Given the description of an element on the screen output the (x, y) to click on. 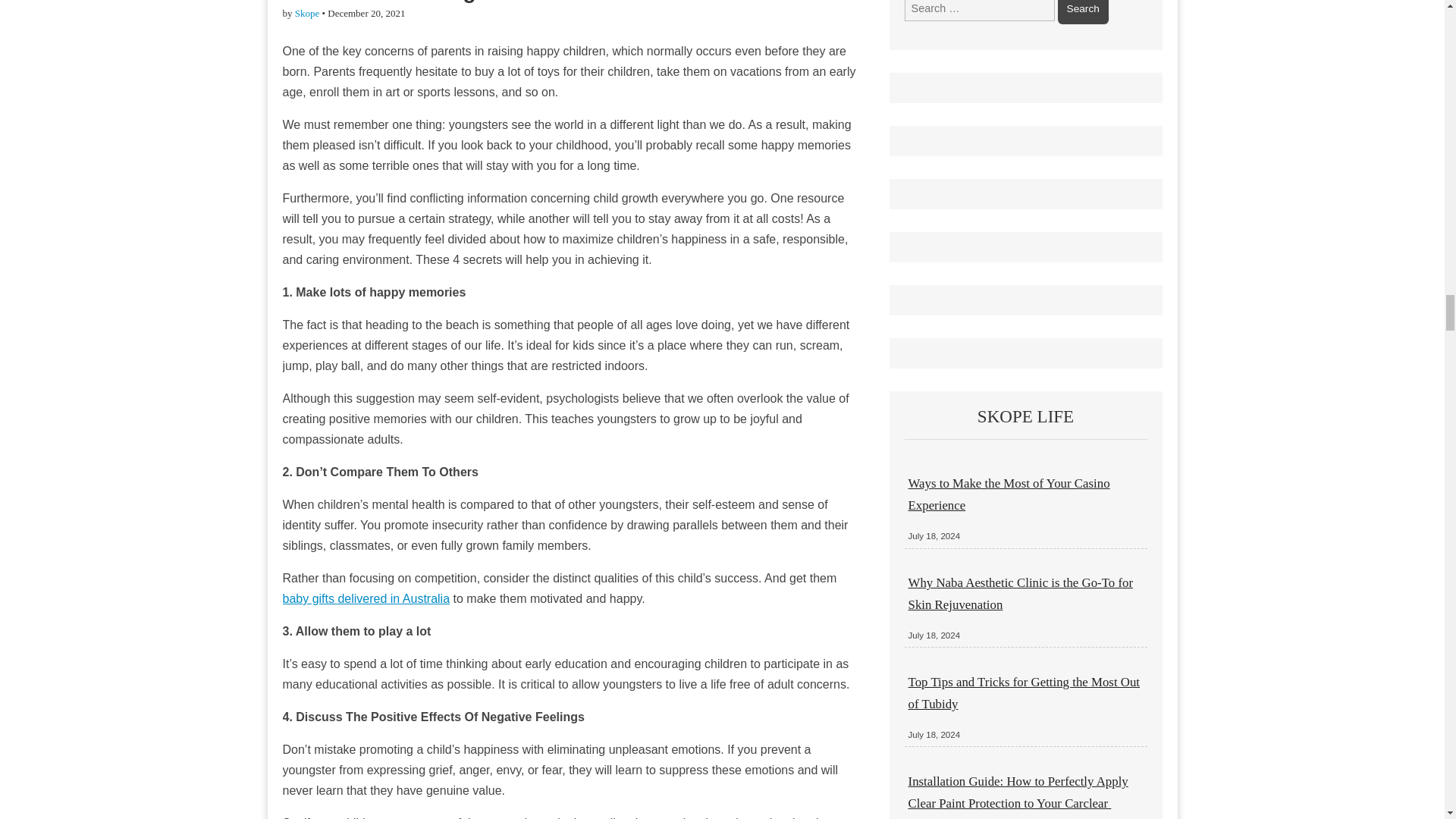
Posts by Skope (307, 12)
Search (1083, 12)
baby gifts delivered in Australia (365, 598)
Skope (307, 12)
Search (1083, 12)
Top Tips and Tricks for Getting the Most Out of Tubidy (1024, 692)
Why Naba Aesthetic Clinic is the Go-To for Skin Rejuvenation (1021, 592)
Ways to Make the Most of Your Casino Experience (1008, 493)
Search (1083, 12)
